Given the description of an element on the screen output the (x, y) to click on. 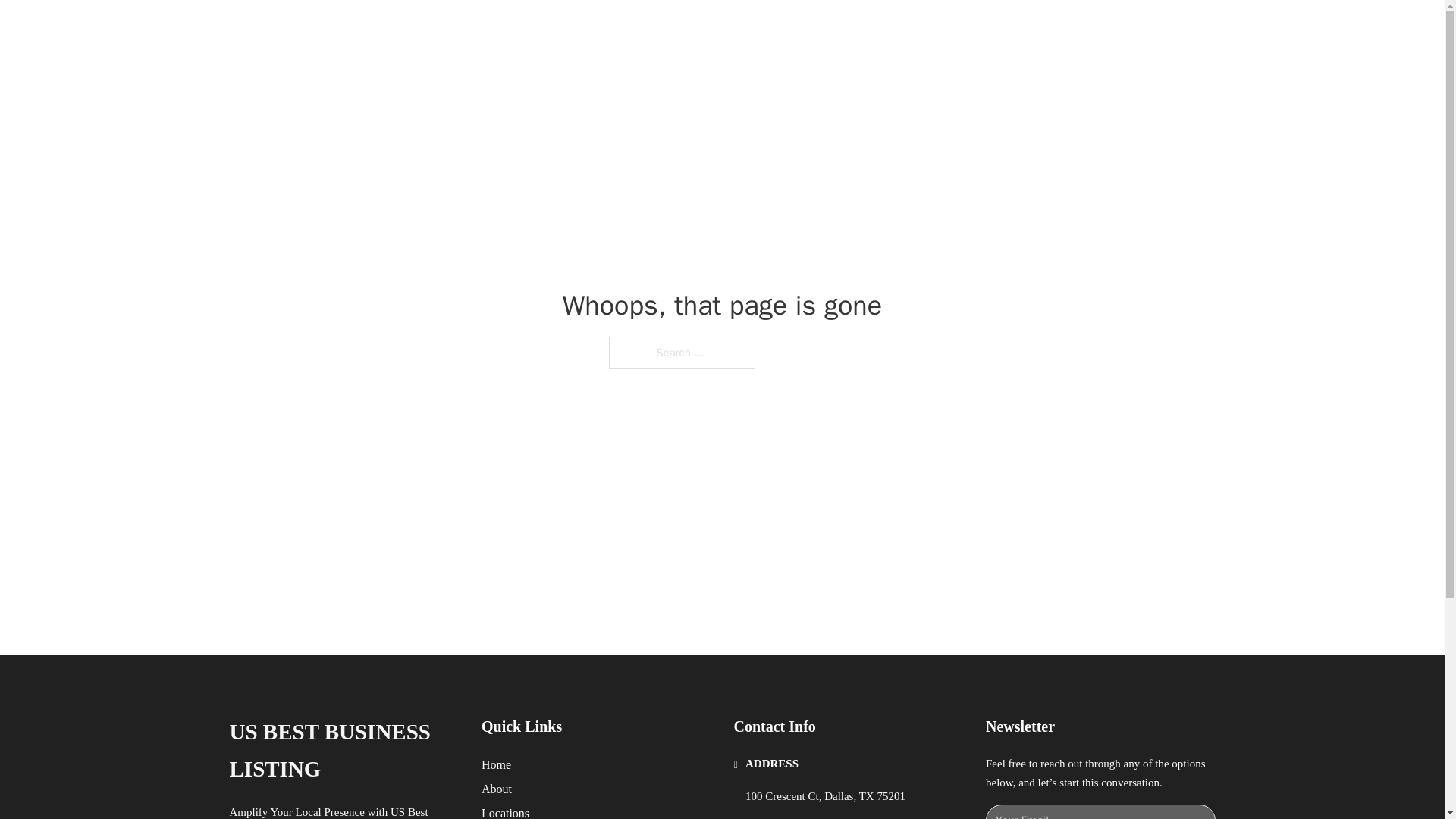
US BEST BUSINESS LISTING (343, 750)
LOCATIONS (990, 29)
Locations (505, 811)
US BEST BUSINESS LISTING (448, 28)
HOME (919, 29)
About (496, 788)
Home (496, 764)
